Given the description of an element on the screen output the (x, y) to click on. 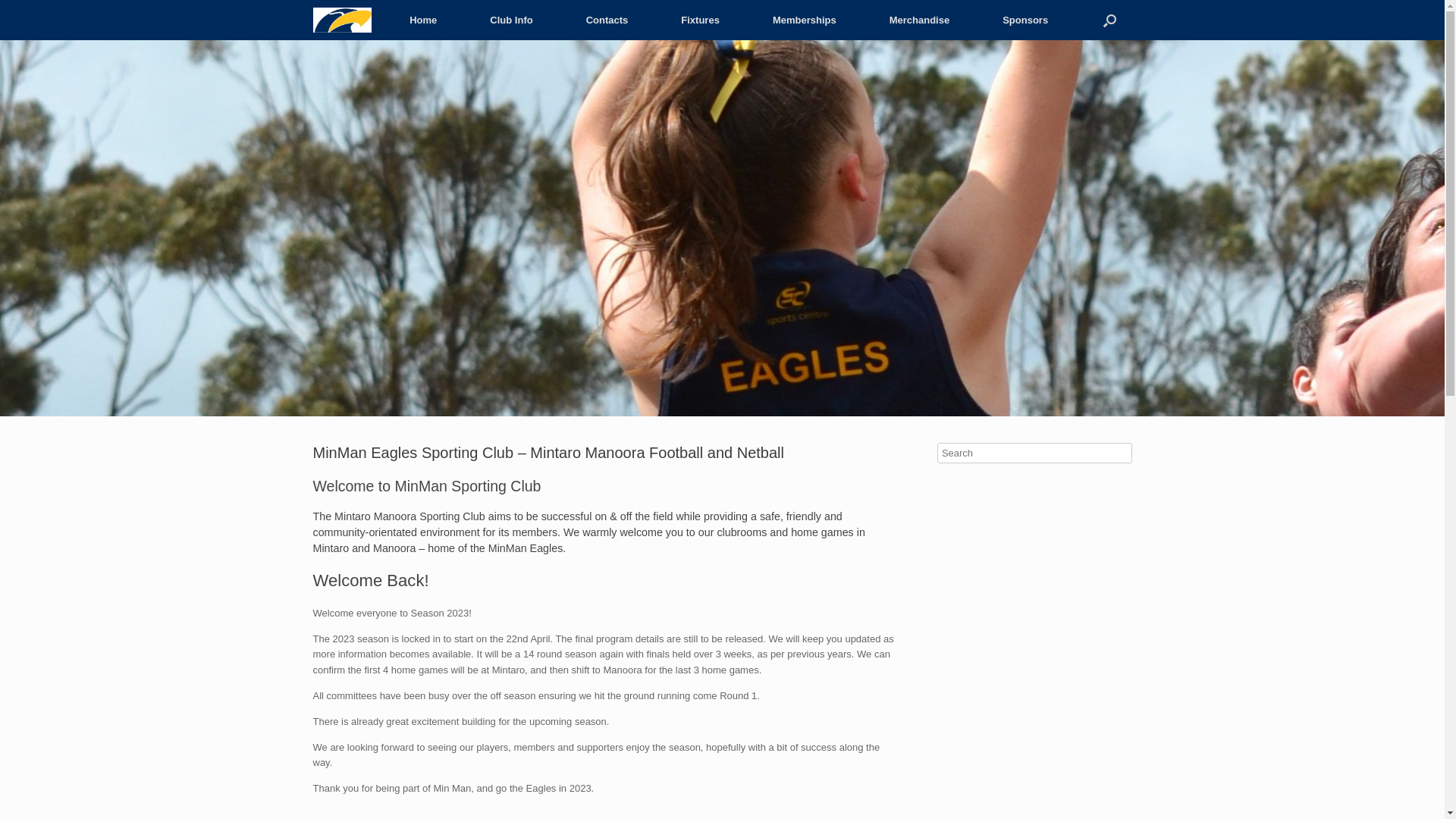
MinMan Eagles Element type: hover (341, 20)
Memberships Element type: text (804, 20)
Club Info Element type: text (510, 20)
Merchandise Element type: text (918, 20)
Contacts Element type: text (607, 20)
Home Element type: text (422, 20)
MinMan Netball Element type: hover (722, 228)
Fixtures Element type: text (700, 20)
Sponsors Element type: text (1024, 20)
